Given the description of an element on the screen output the (x, y) to click on. 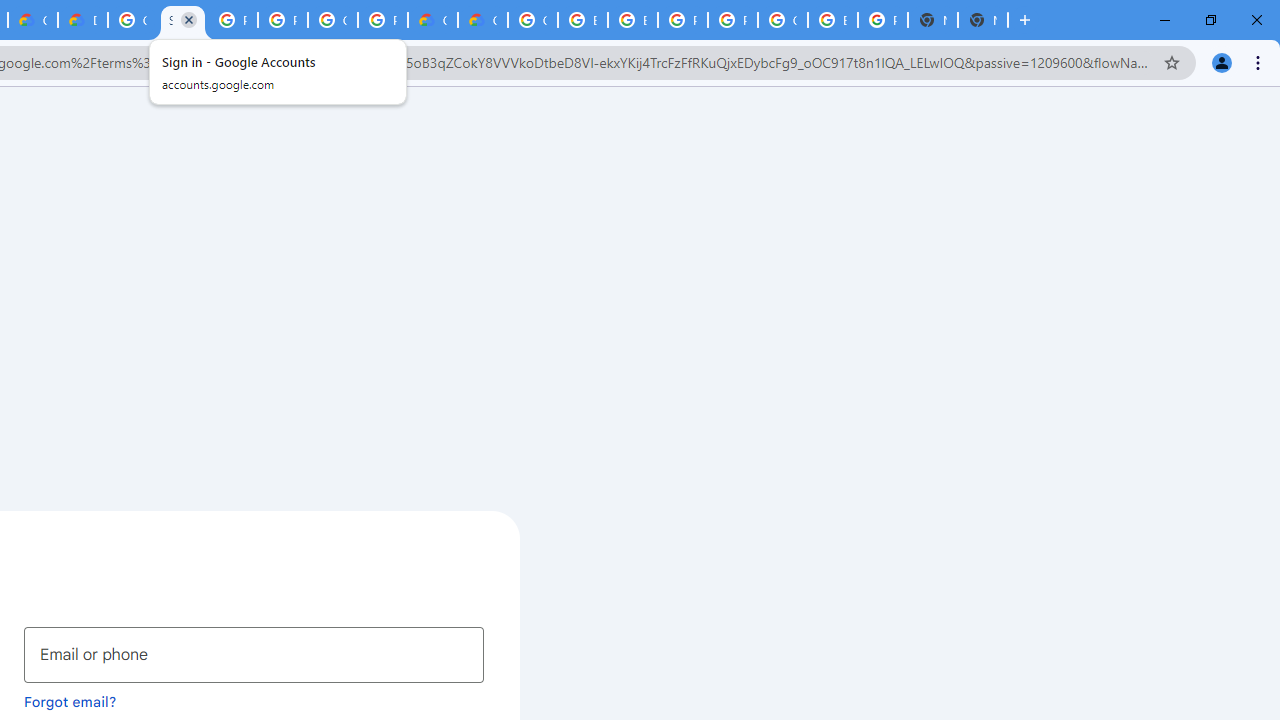
Google Cloud Estimate Summary (483, 20)
Google Cloud Platform (782, 20)
Forgot email? (70, 701)
